Given the description of an element on the screen output the (x, y) to click on. 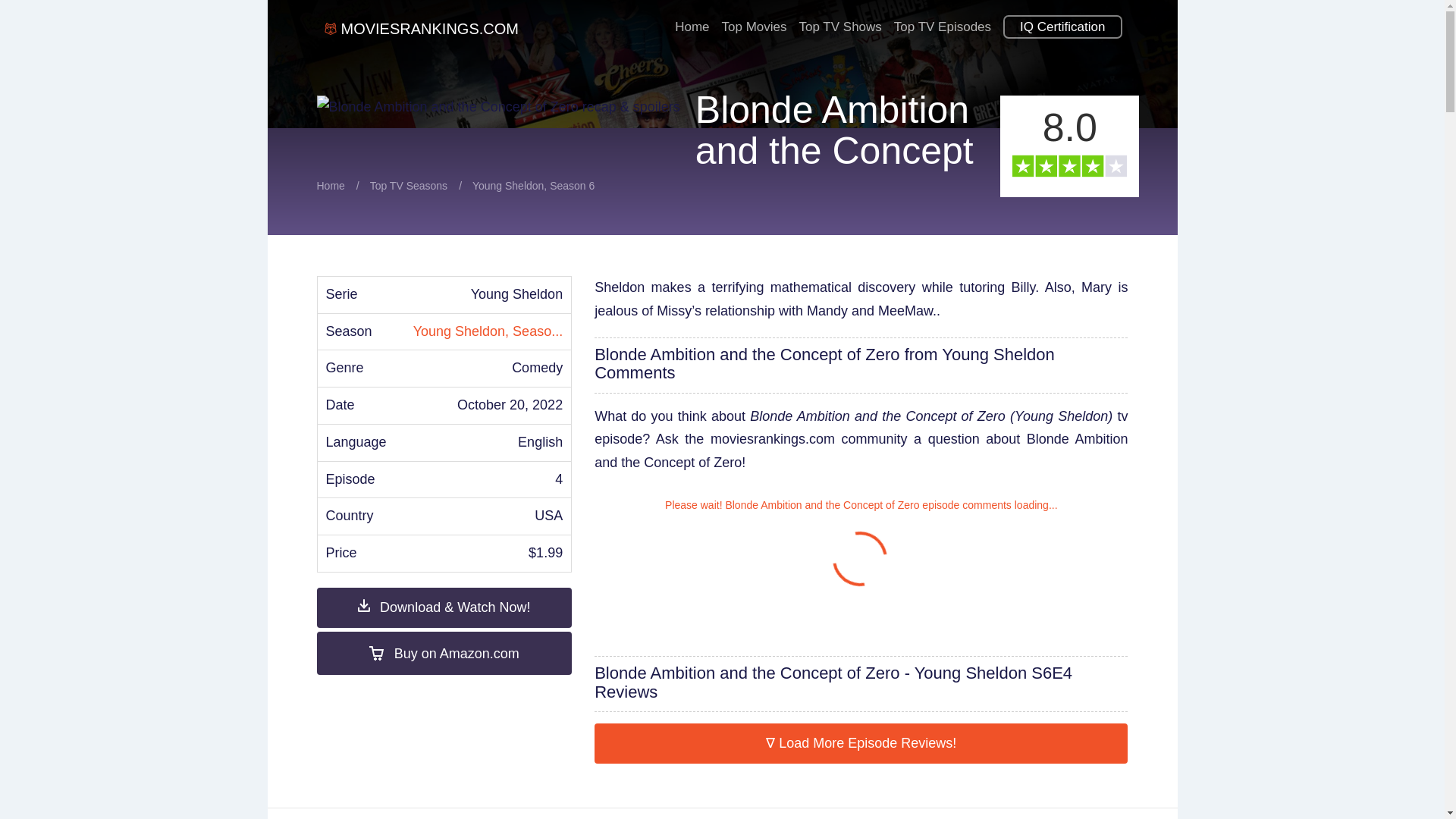
Top TV Seasons (407, 185)
Home (691, 20)
IQ Certification (1061, 20)
Watch - Young Sheldon S6E4 Full HD (444, 608)
Top Movies (754, 20)
IQ Test Certification (1061, 20)
Buy on Amazon.com (444, 652)
Young Sheldon, Season 6 Photos, Plot, and Trailer (488, 331)
Top TV Shows (840, 20)
Home (331, 185)
